Given the description of an element on the screen output the (x, y) to click on. 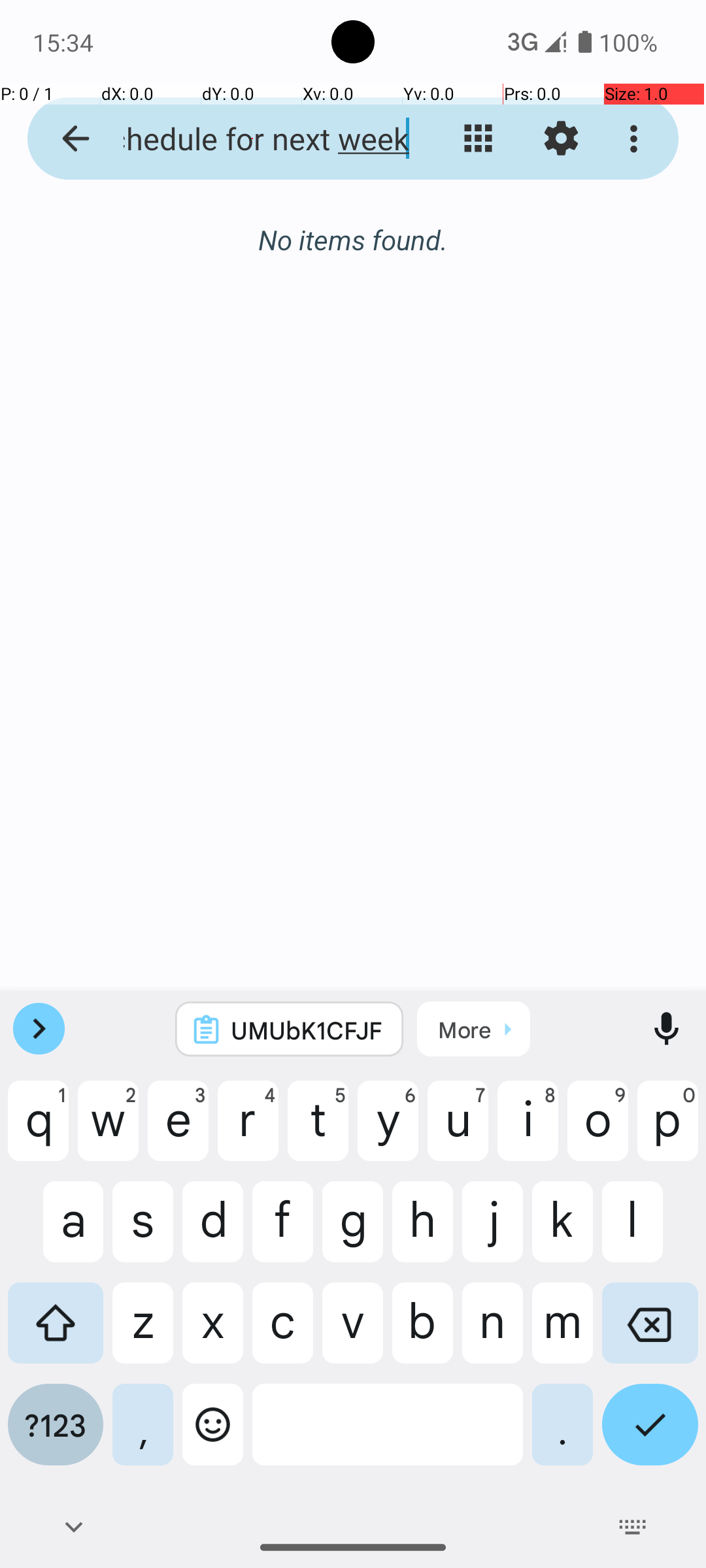
meeting schedule for next week Element type: android.widget.EditText (252, 138)
